Given the description of an element on the screen output the (x, y) to click on. 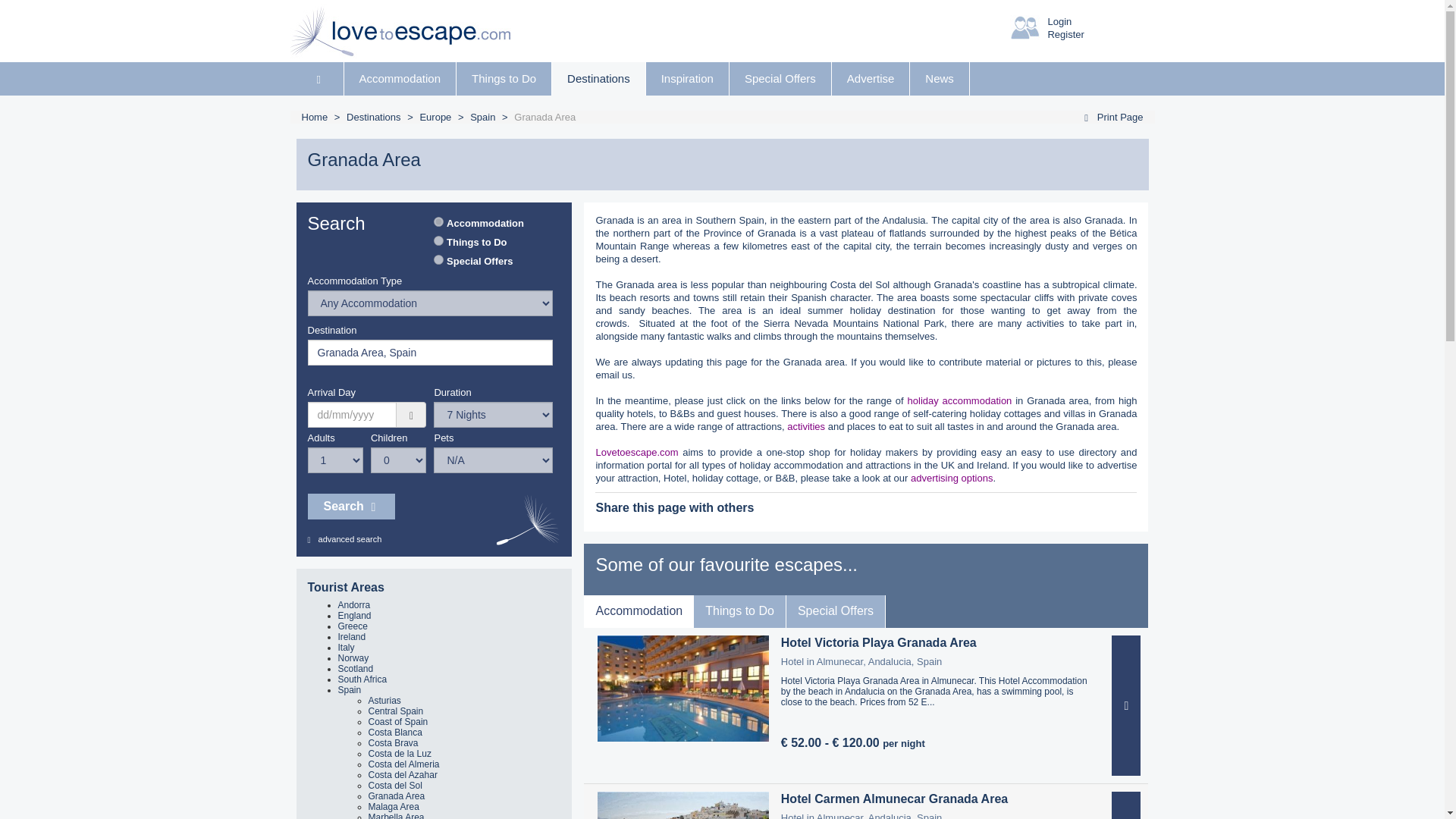
Ireland (351, 636)
Advertise (870, 78)
specialoffers (438, 259)
Destinations (598, 78)
Scotland (355, 668)
Select the number of children (398, 460)
Select the number of adults (334, 460)
advanced search (344, 538)
England (354, 615)
Things to Do (504, 78)
Costa Blanca (395, 732)
Login (1058, 21)
Costa de la Luz (399, 753)
Andorra (354, 604)
Costa del Almeria (403, 764)
